Given the description of an element on the screen output the (x, y) to click on. 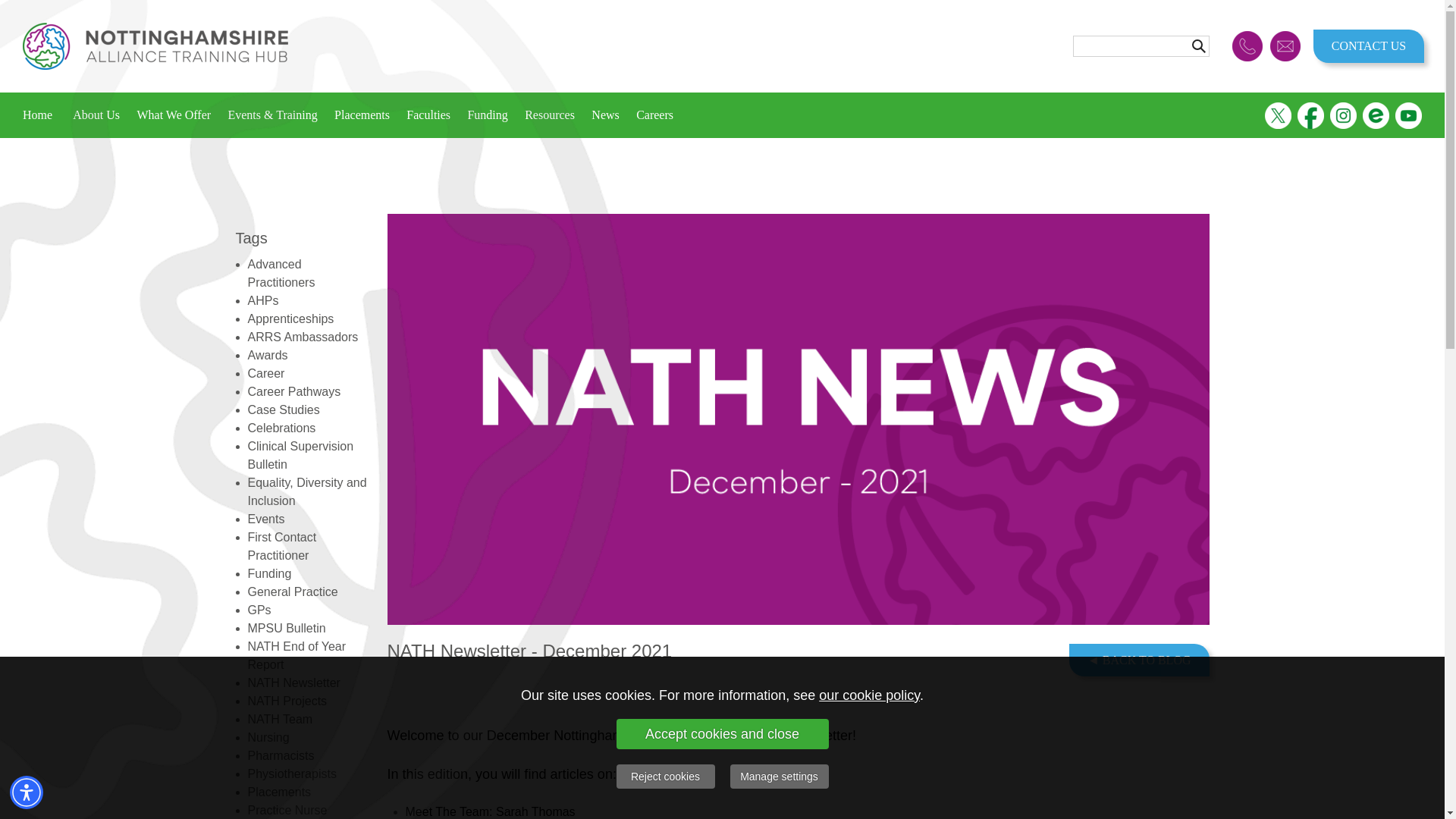
What We Offer (173, 114)
Accessibility Menu (26, 792)
CONTACT US (1368, 45)
Placements (361, 114)
Funding (487, 114)
About Us (96, 114)
Resources (549, 114)
Home (43, 114)
Faculties (427, 114)
